Given the description of an element on the screen output the (x, y) to click on. 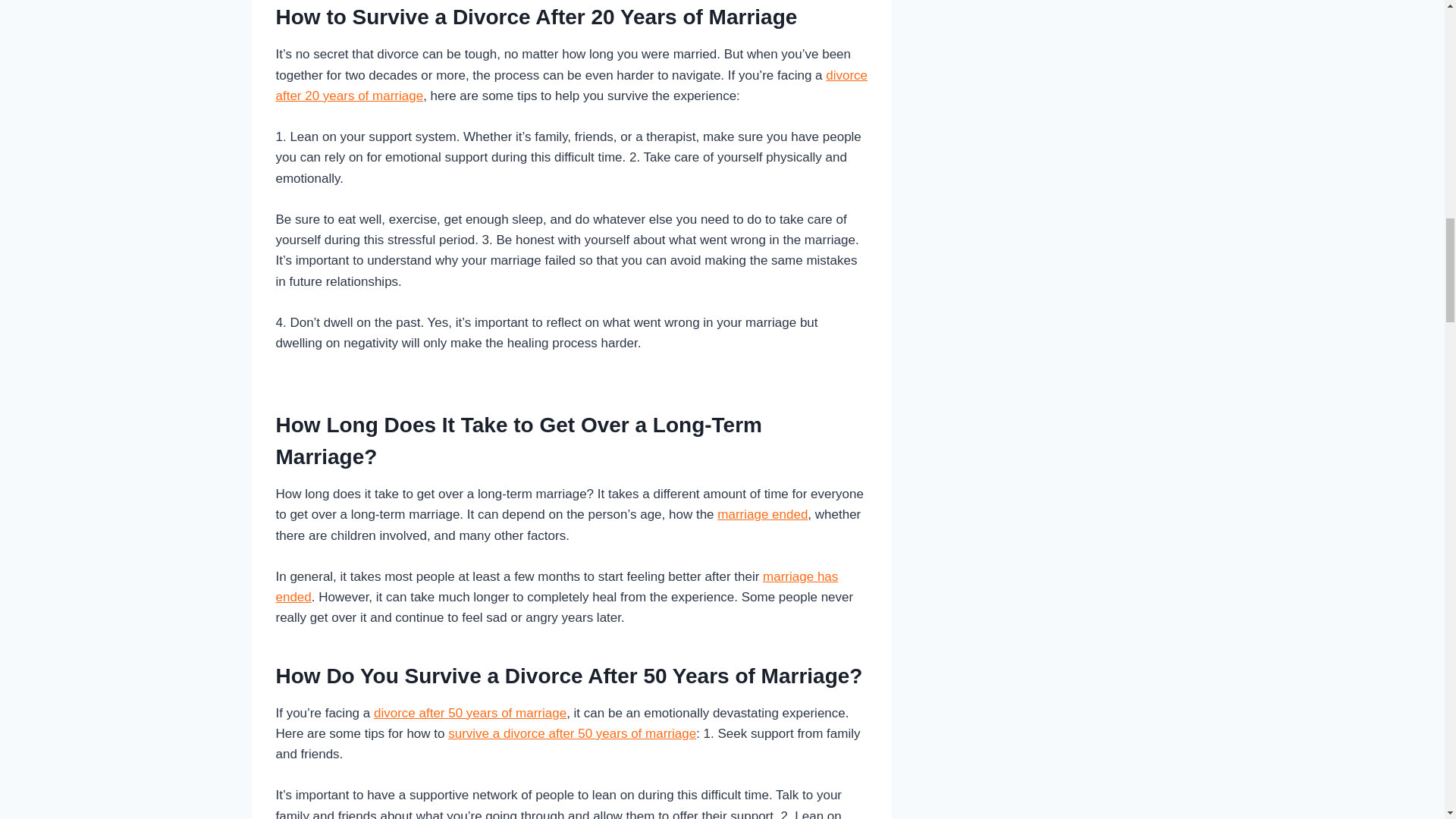
divorce after 50 years of marriage (470, 712)
divorce after 20 years of marriage (571, 85)
marriage ended (762, 513)
survive a divorce after 50 years of marriage (571, 733)
marriage has ended (557, 586)
